Given the description of an element on the screen output the (x, y) to click on. 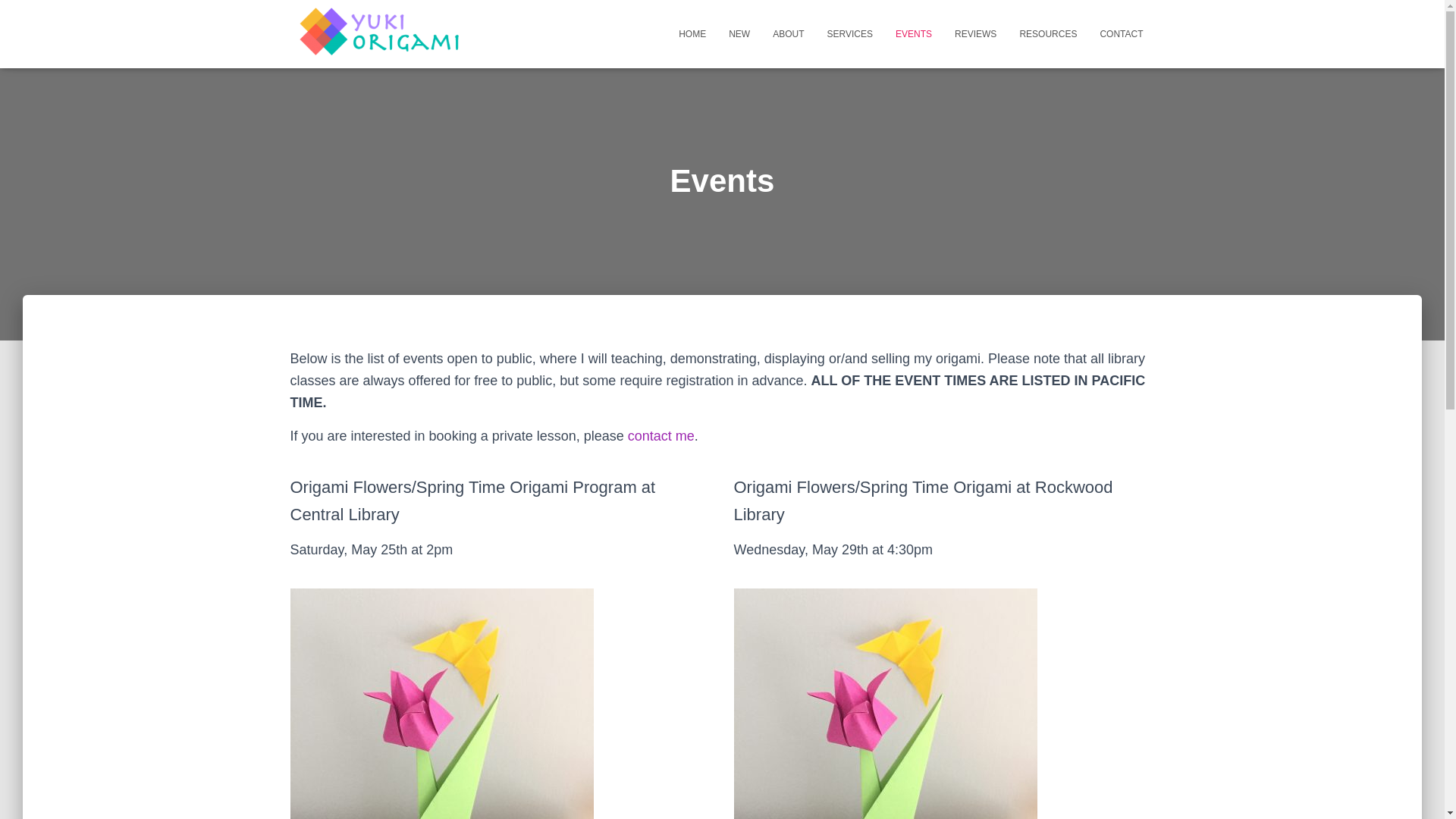
contact me (660, 435)
Services (849, 34)
HOME (691, 34)
About (788, 34)
New (739, 34)
Contact (1120, 34)
Events (913, 34)
RESOURCES (1047, 34)
Reviews (975, 34)
Yuki Origami (379, 33)
